Given the description of an element on the screen output the (x, y) to click on. 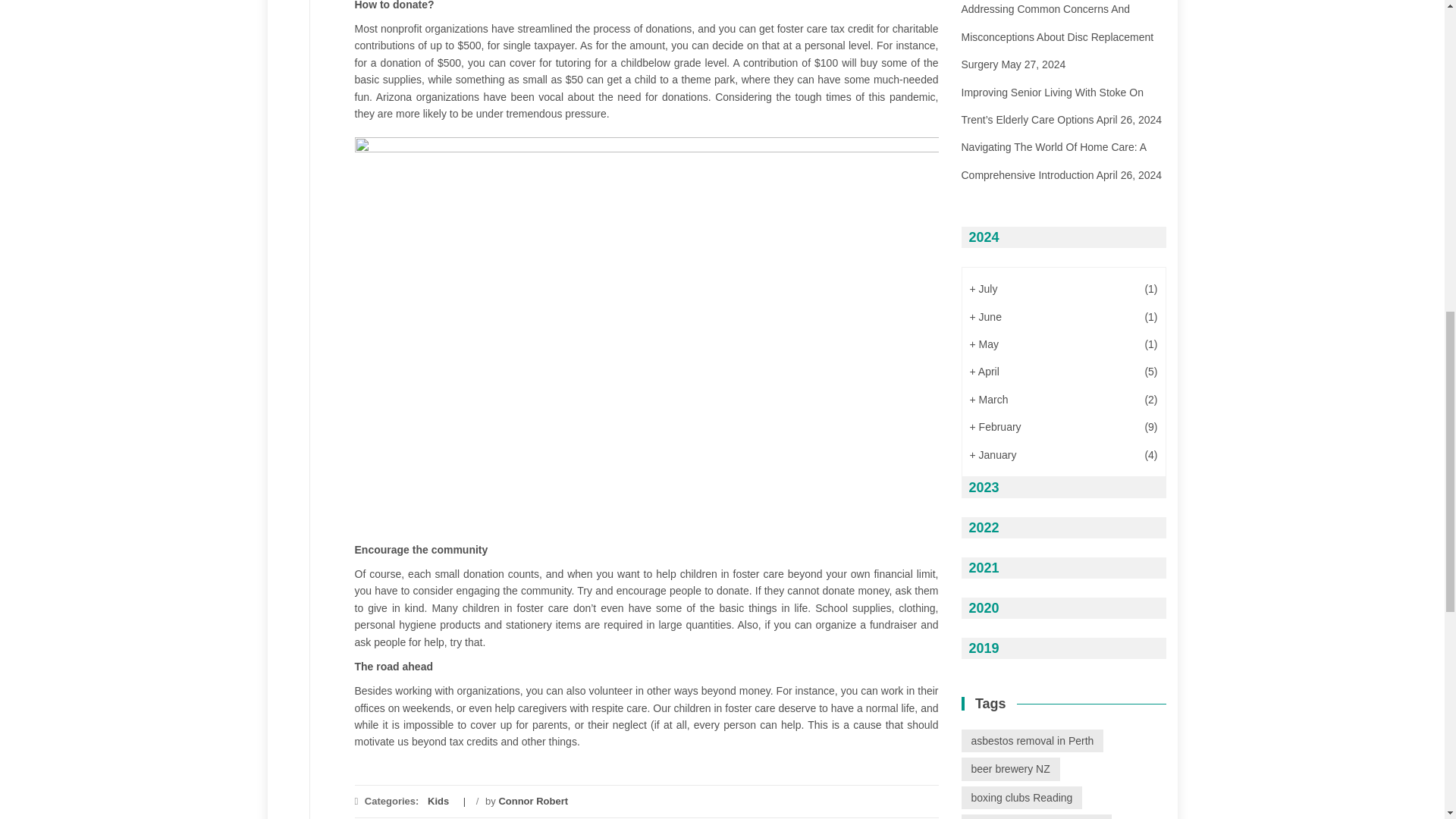
Kids (438, 800)
Connor Robert (532, 800)
